Given the description of an element on the screen output the (x, y) to click on. 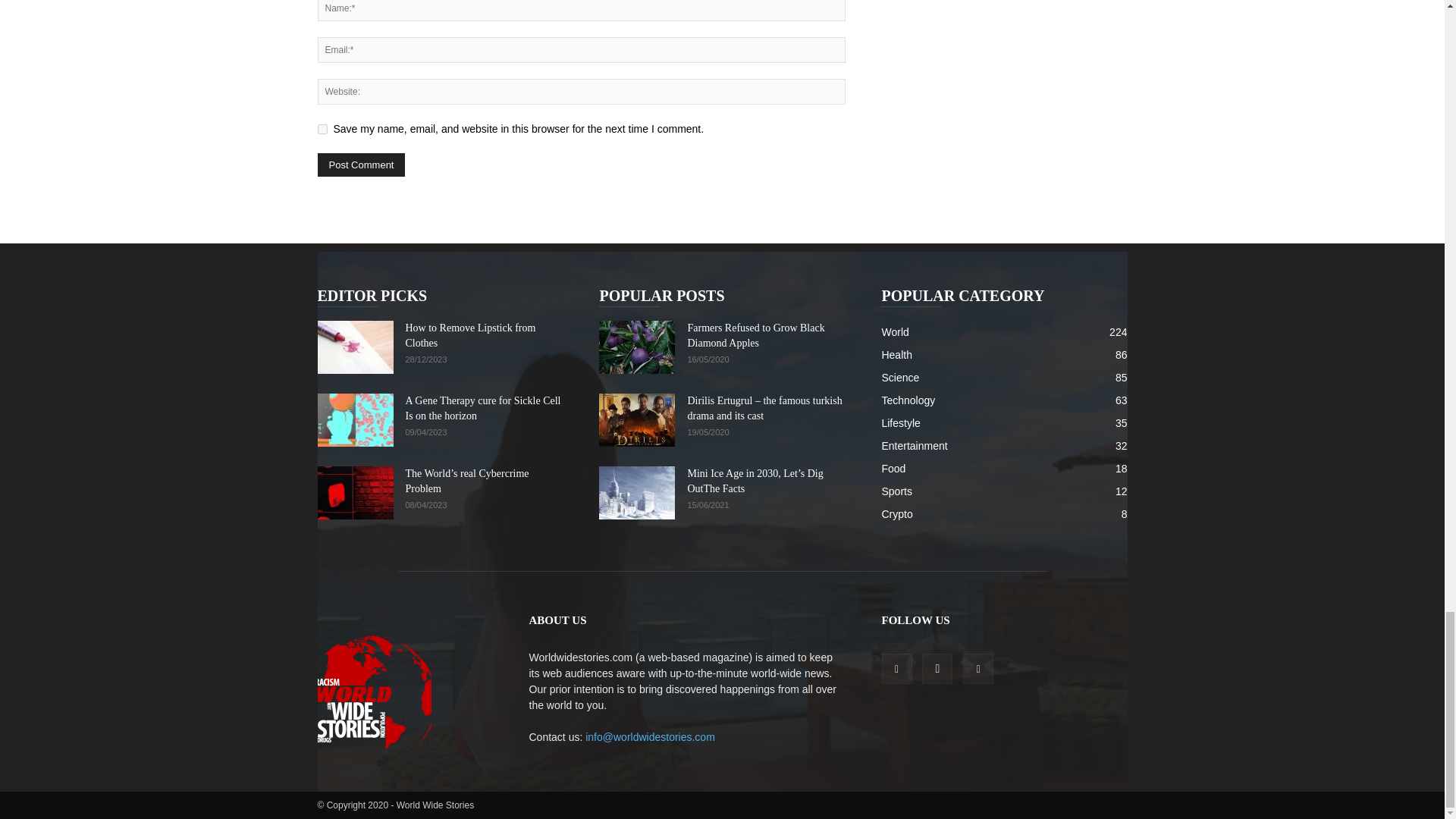
yes (321, 129)
Post Comment (360, 164)
